Given the description of an element on the screen output the (x, y) to click on. 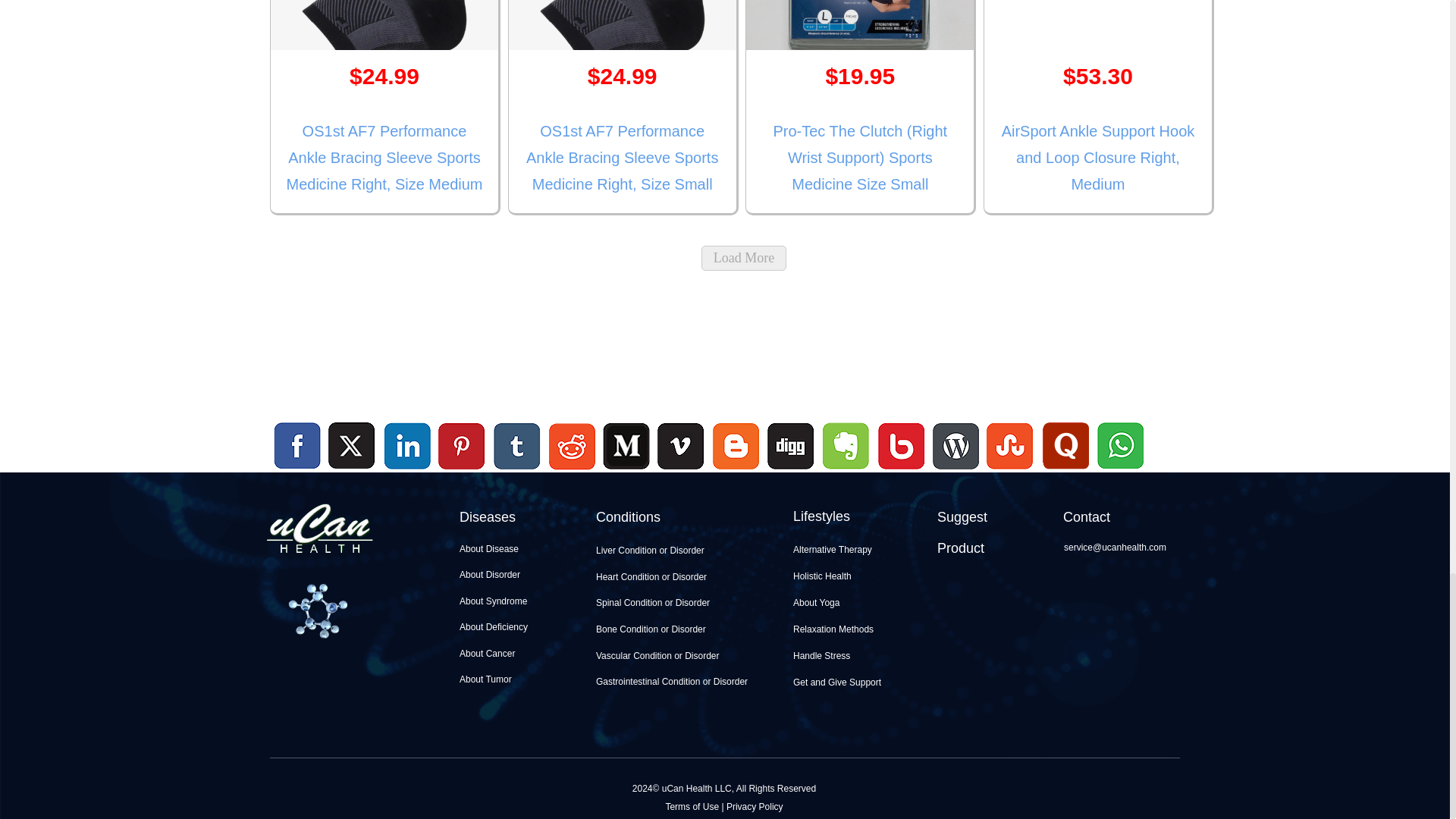
Pinterest (462, 446)
Medium (625, 471)
LinkedIn (408, 446)
WhatsApp (1118, 471)
Reddit (571, 471)
Blogger (735, 471)
Evernote (846, 446)
Vimeo (682, 446)
Bebo (900, 471)
Facebook (297, 446)
